Given the description of an element on the screen output the (x, y) to click on. 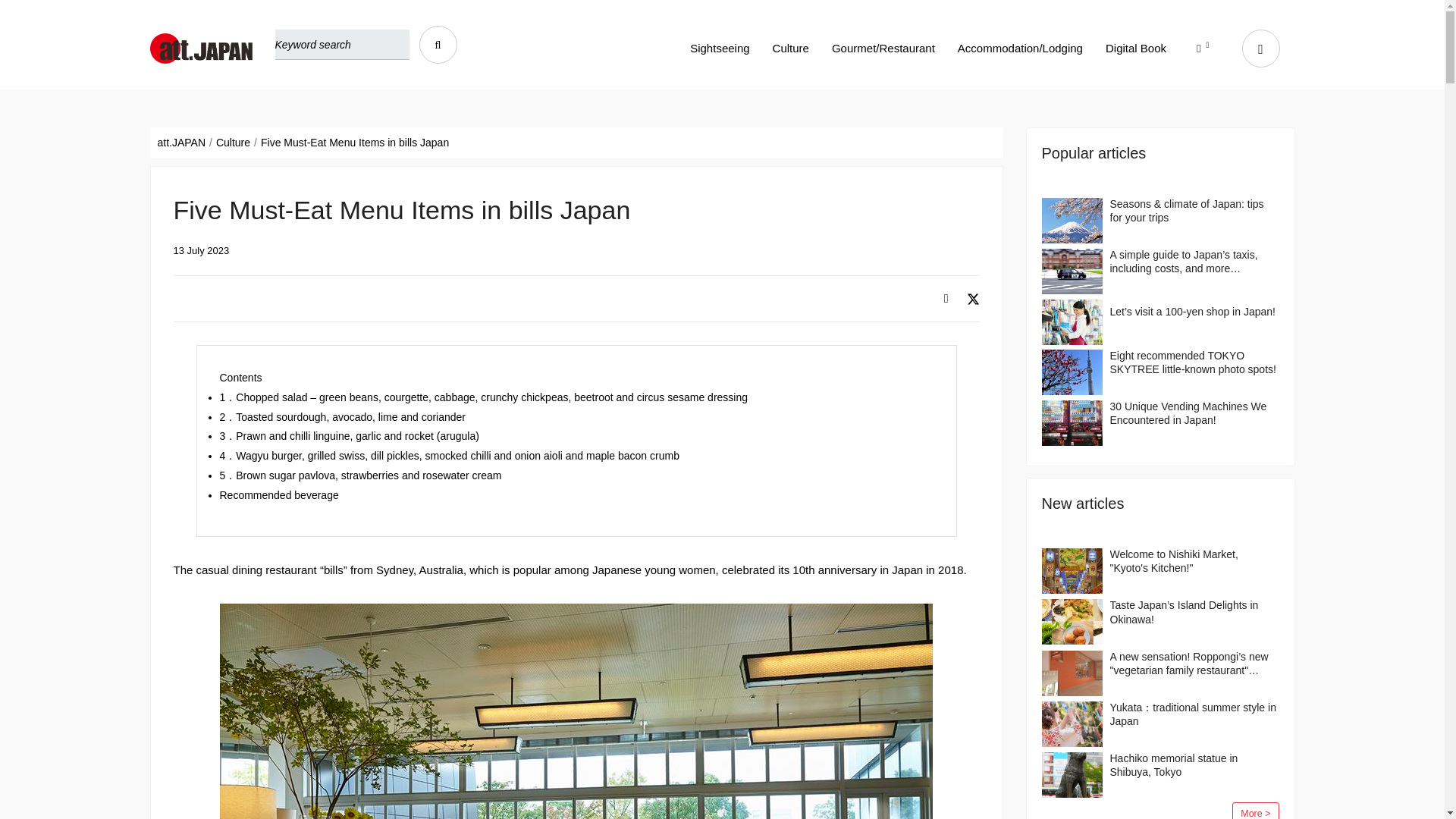
Culture (232, 143)
att.JAPAN (181, 143)
Sightseeing (719, 47)
Digital Book (1135, 47)
Culture (791, 47)
